Given the description of an element on the screen output the (x, y) to click on. 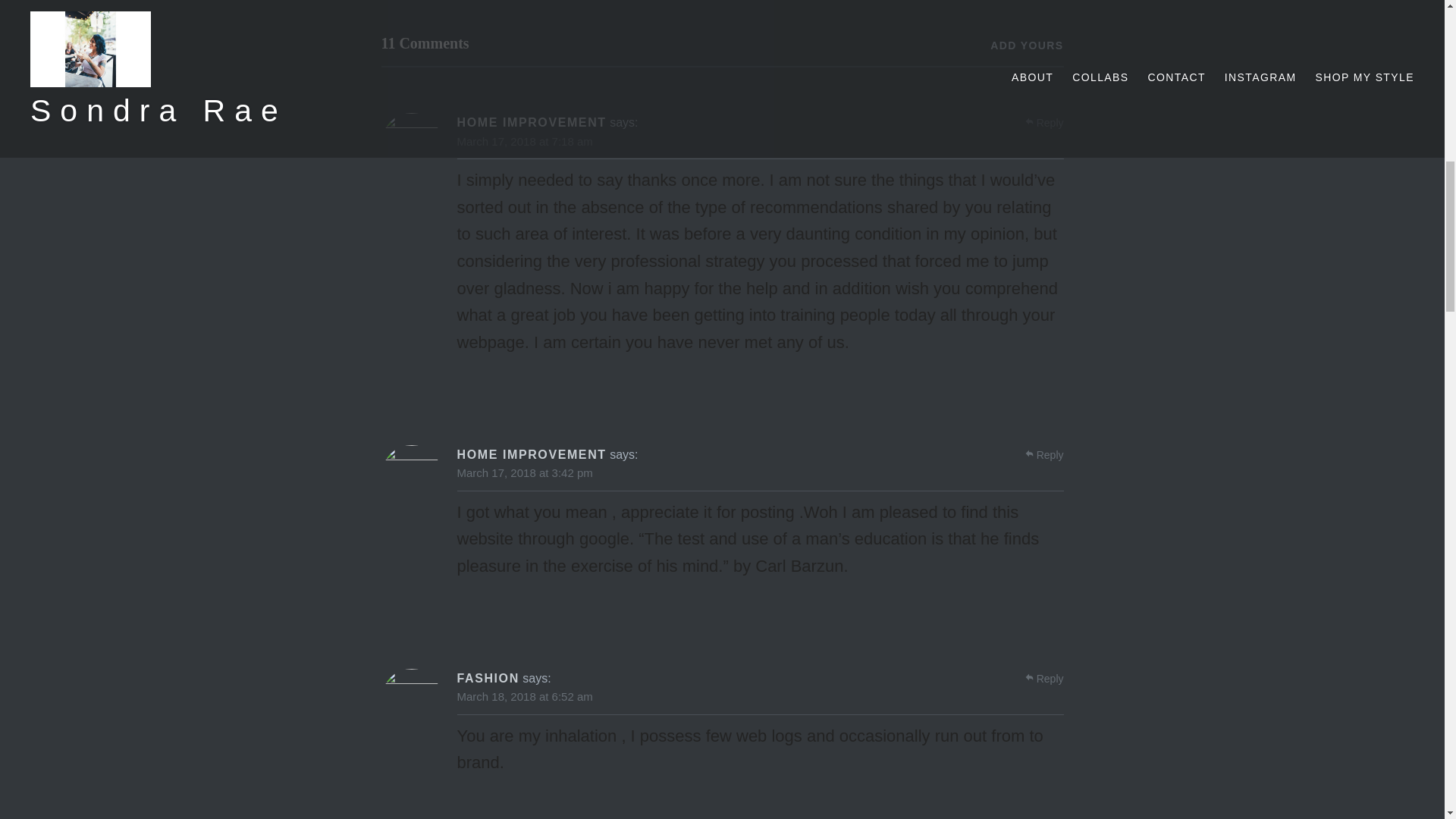
March 17, 2018 at 3:42 pm (524, 472)
March 17, 2018 at 7:18 am (524, 141)
Reply (1050, 678)
HOME IMPROVEMENT (531, 453)
HOME IMPROVEMENT (531, 122)
Reply (1050, 454)
Reply (1050, 122)
ADD YOURS (1026, 45)
FASHION (487, 677)
March 18, 2018 at 6:52 am (524, 696)
